Given the description of an element on the screen output the (x, y) to click on. 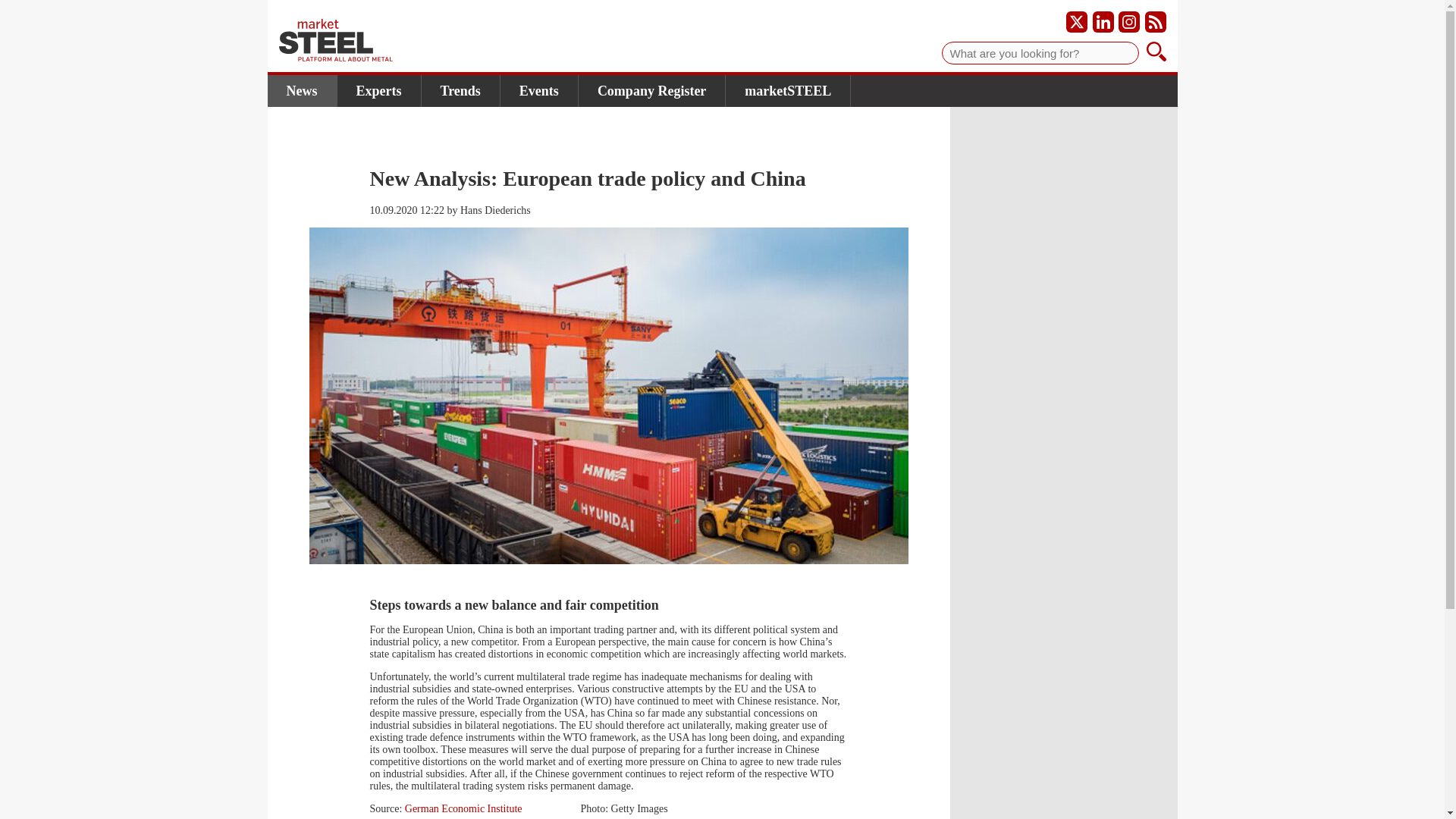
News (301, 91)
Experts (378, 91)
Trends (461, 91)
News (301, 91)
Experts (378, 91)
Trends (461, 91)
